Given the description of an element on the screen output the (x, y) to click on. 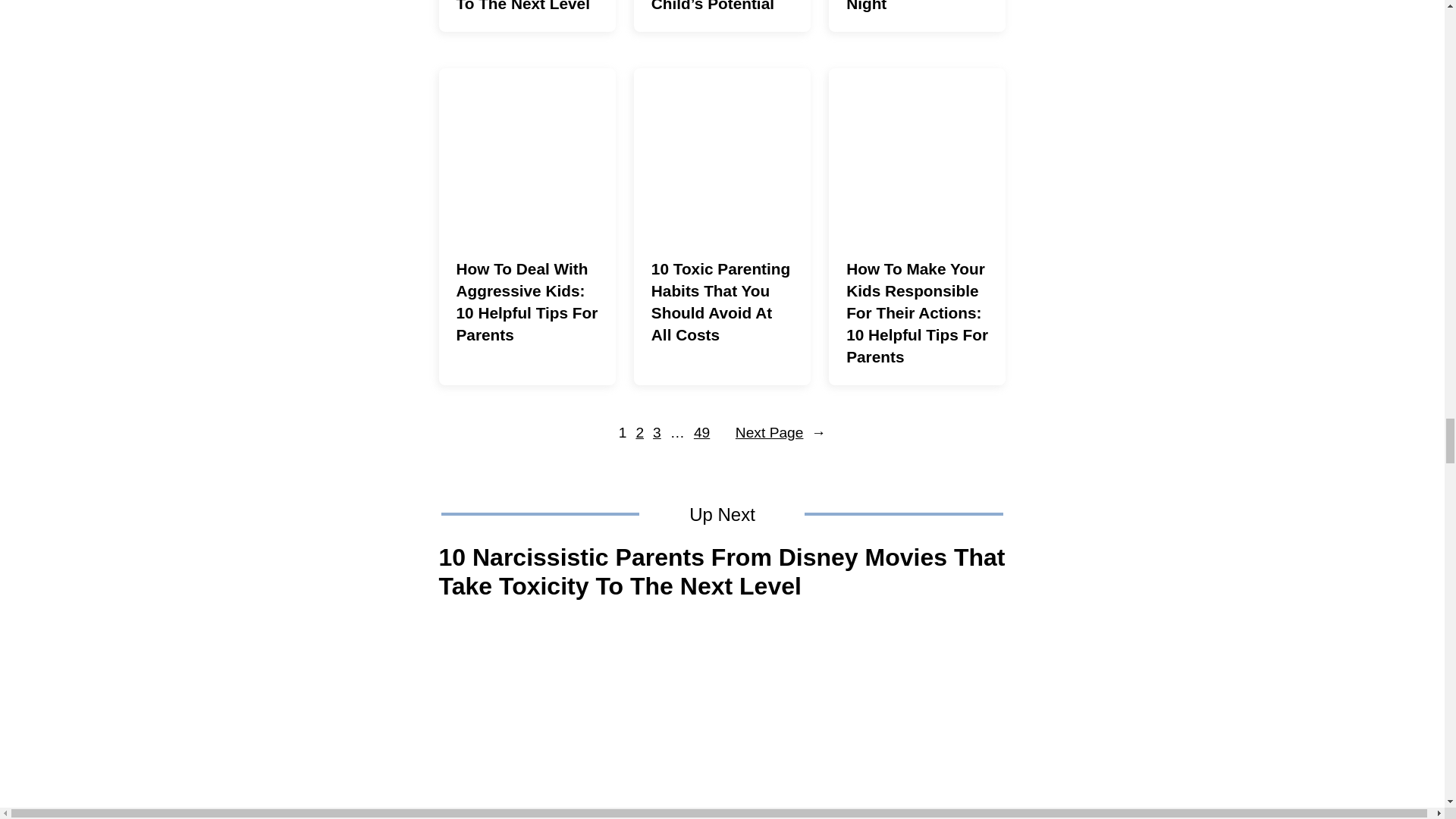
10 Toxic Parenting Habits That You Should Avoid At All Costs (721, 154)
